Given the description of an element on the screen output the (x, y) to click on. 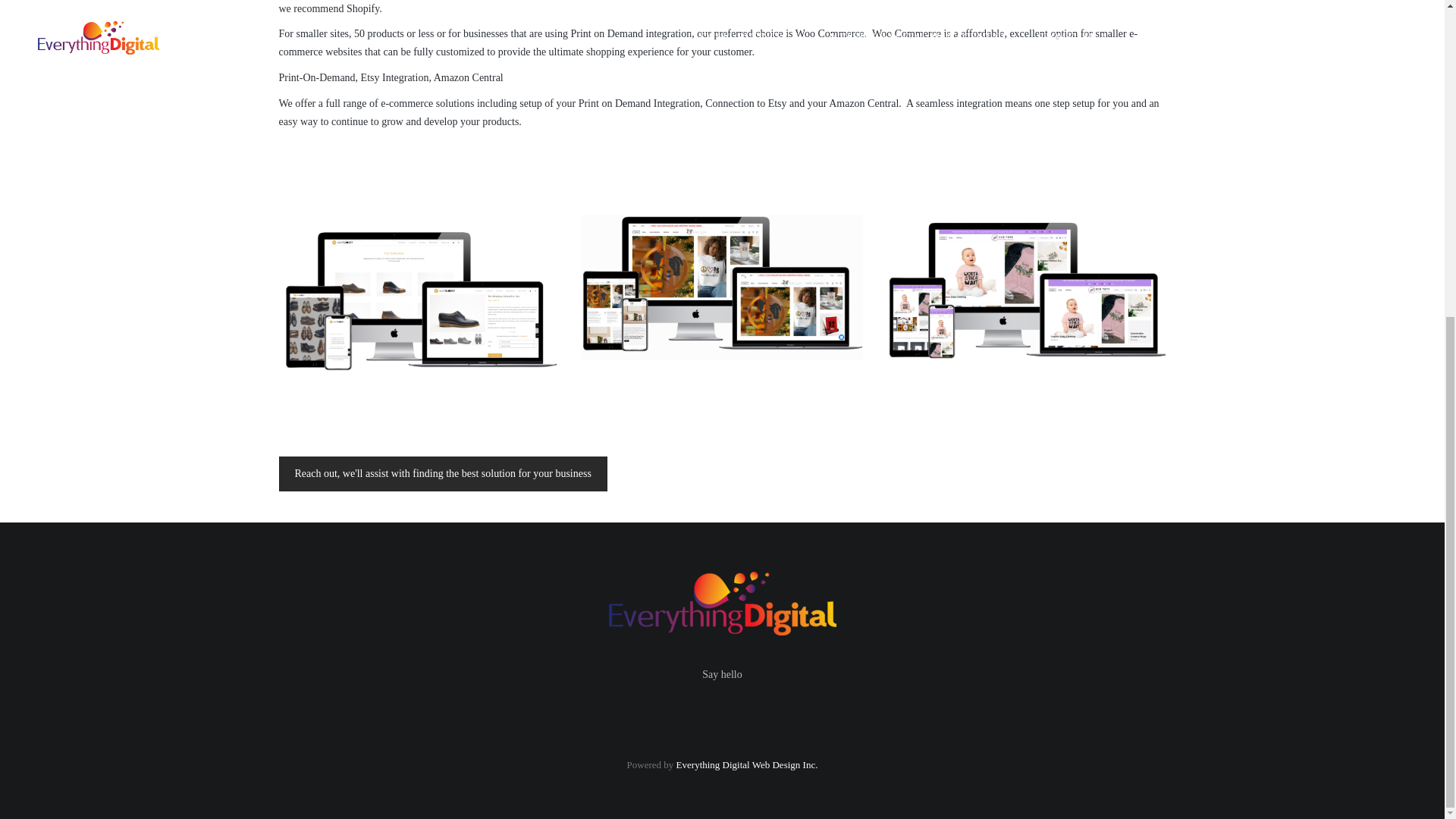
Everything Digital Web Design Inc. (747, 764)
Contact US (443, 473)
Say hello (721, 674)
